Given the description of an element on the screen output the (x, y) to click on. 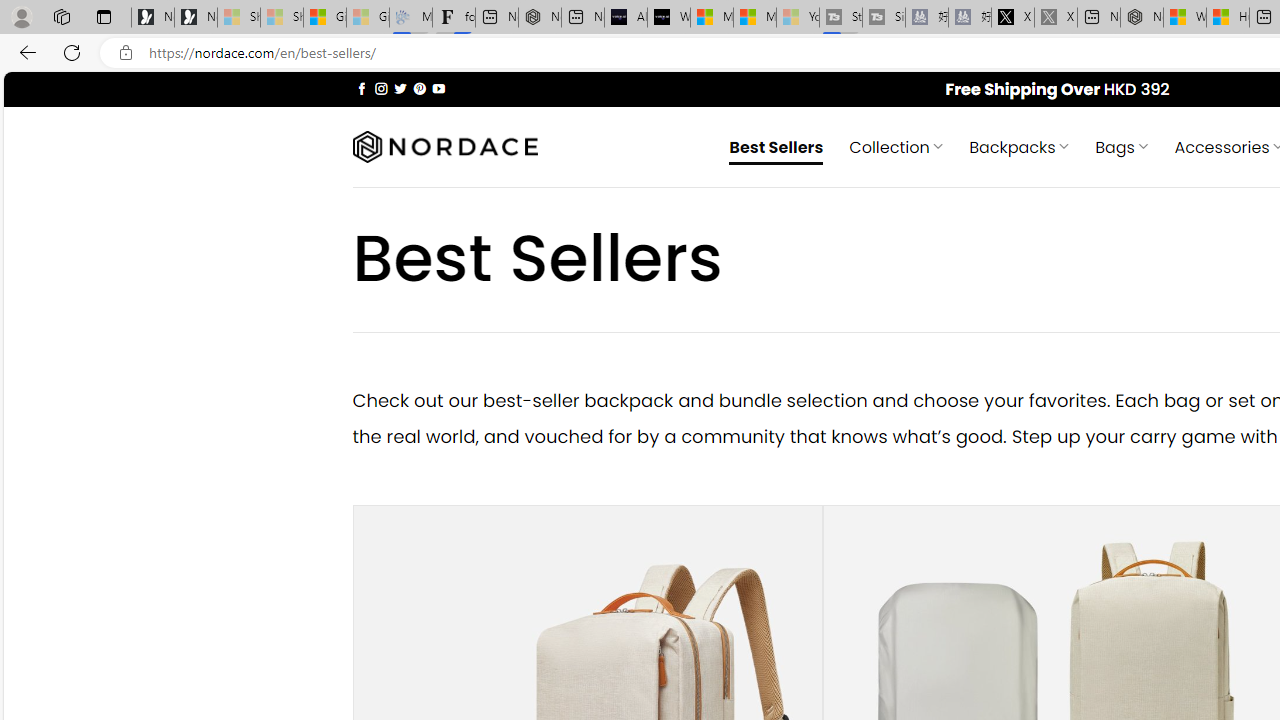
 Best Sellers (776, 146)
AI Voice Changer for PC and Mac - Voice.ai (625, 17)
Nordace - My Account (1142, 17)
